Given the description of an element on the screen output the (x, y) to click on. 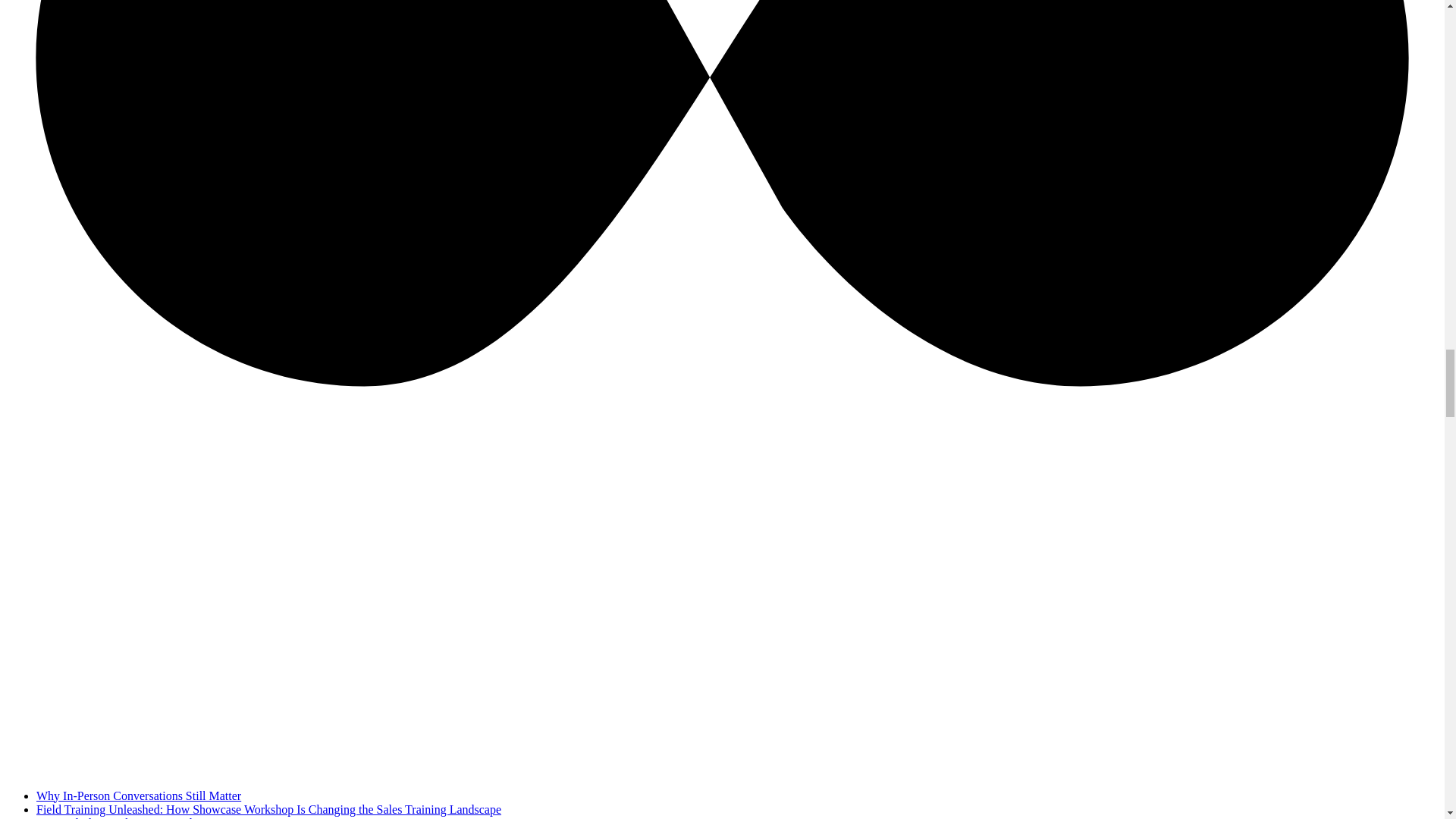
Why In-Person Conversations Still Matter (138, 795)
20 Good Things That Happened in 2020 (133, 817)
